Given the description of an element on the screen output the (x, y) to click on. 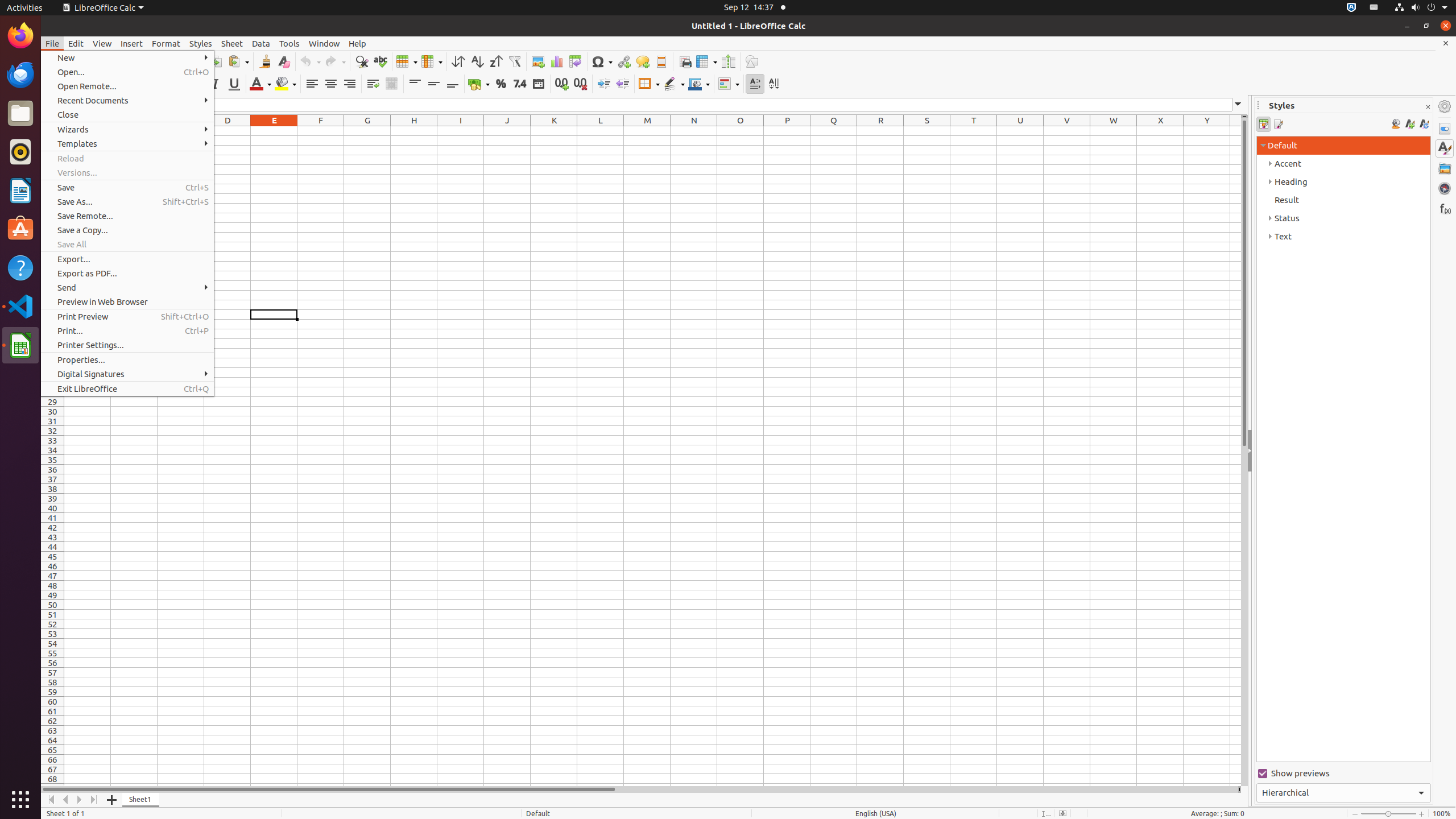
Preview in Web Browser Element type: menu-item (126, 301)
Headers and Footers Element type: push-button (660, 61)
Sheet Element type: menu (231, 43)
Save a Copy... Element type: menu-item (126, 229)
G1 Element type: table-cell (367, 130)
